Given the description of an element on the screen output the (x, y) to click on. 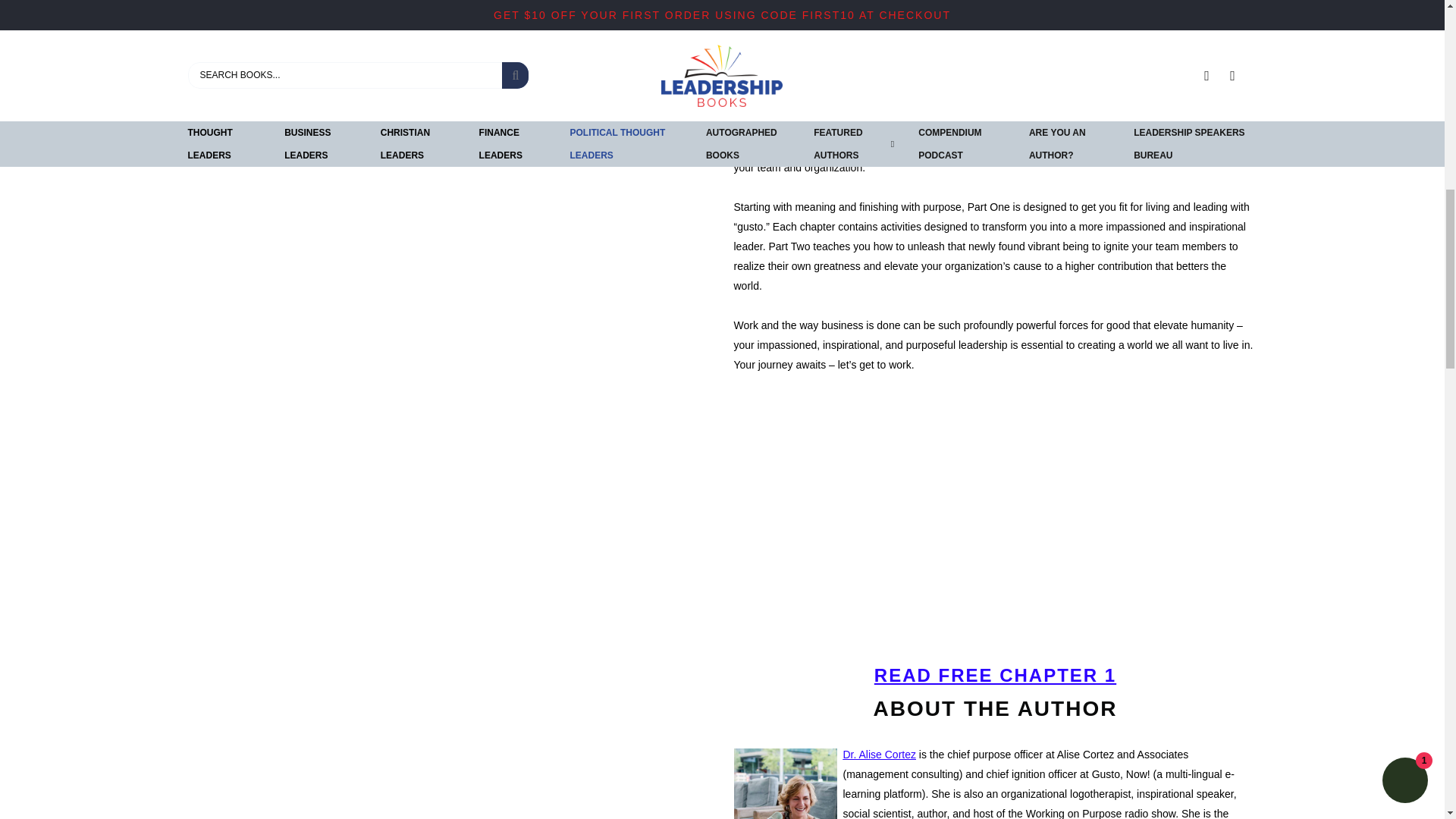
Purpose Ignited Chapter 1 (995, 675)
Alise Cortez (879, 754)
